Given the description of an element on the screen output the (x, y) to click on. 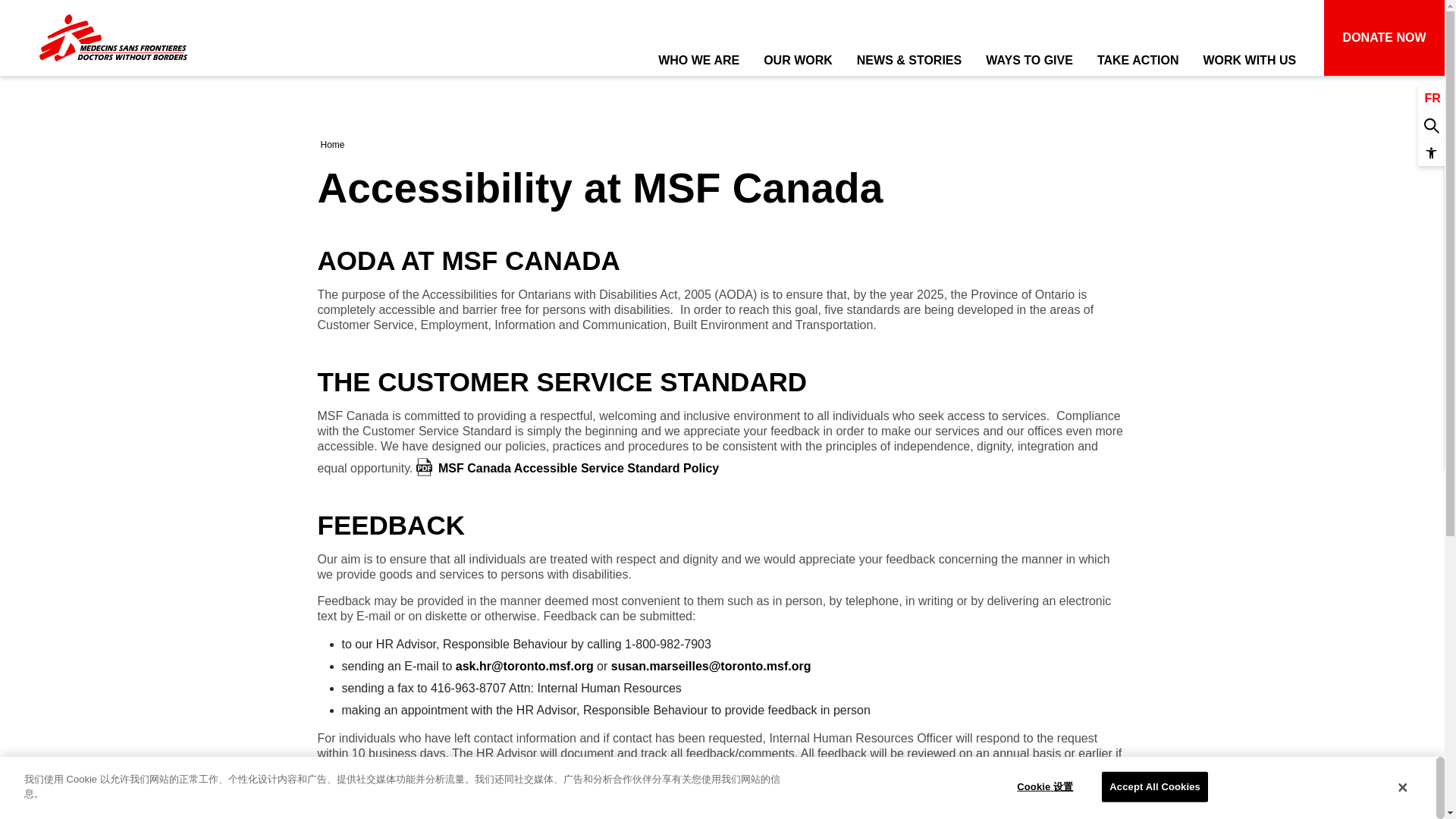
OUR WORK (797, 40)
WAYS TO GIVE (1029, 40)
WHO WE ARE (698, 40)
Who we are (698, 40)
TAKE ACTION (1137, 40)
Our work (797, 40)
